Given the description of an element on the screen output the (x, y) to click on. 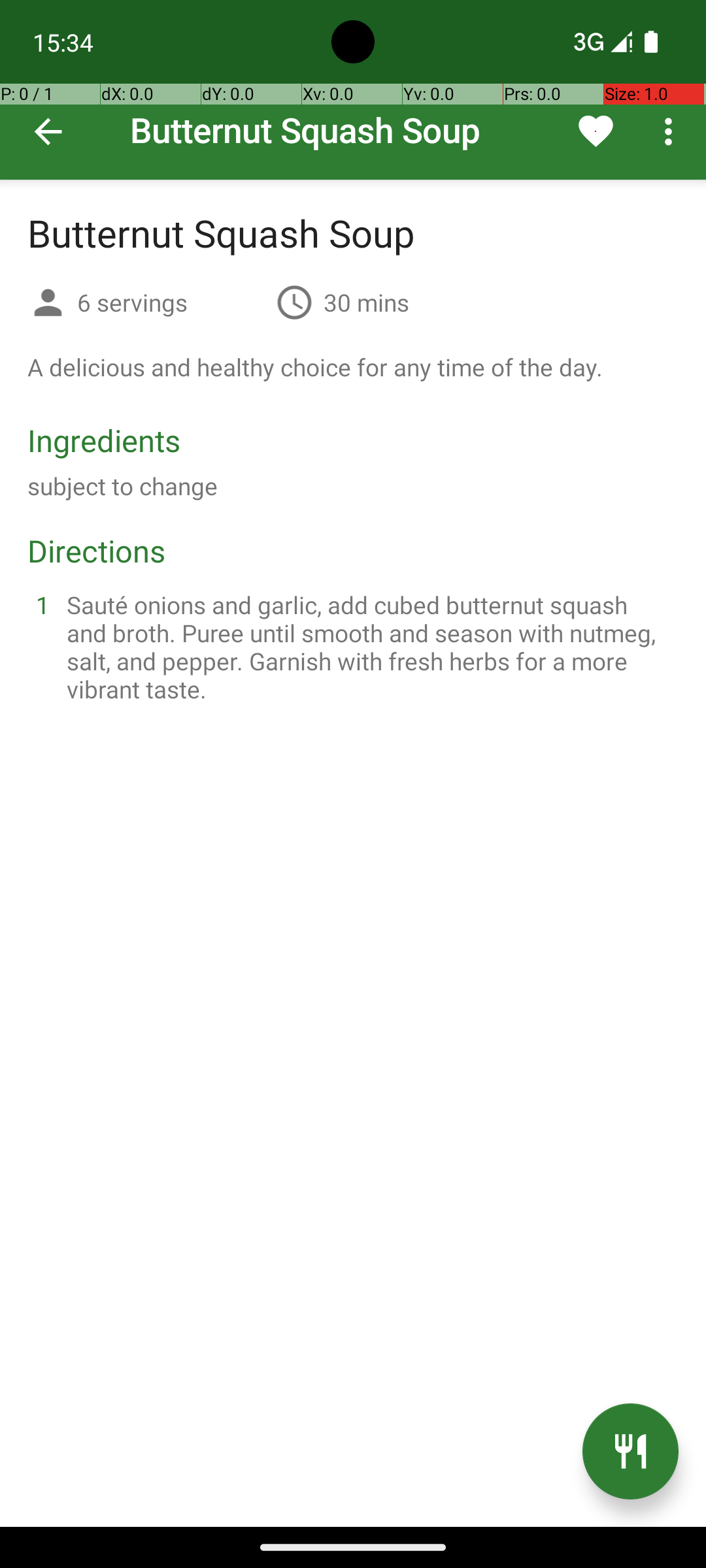
Butternut Squash Soup Element type: android.widget.FrameLayout (353, 89)
Cook Element type: android.widget.ImageButton (630, 1451)
Remove from favorites Element type: android.widget.Button (595, 131)
6 servings Element type: android.widget.TextView (170, 301)
30 mins Element type: android.widget.TextView (366, 301)
subject to change Element type: android.widget.TextView (122, 485)
Sauté onions and garlic, add cubed butternut squash and broth. Puree until smooth and season with nutmeg, salt, and pepper. Garnish with fresh herbs for a more vibrant taste. Element type: android.widget.TextView (368, 646)
